Given the description of an element on the screen output the (x, y) to click on. 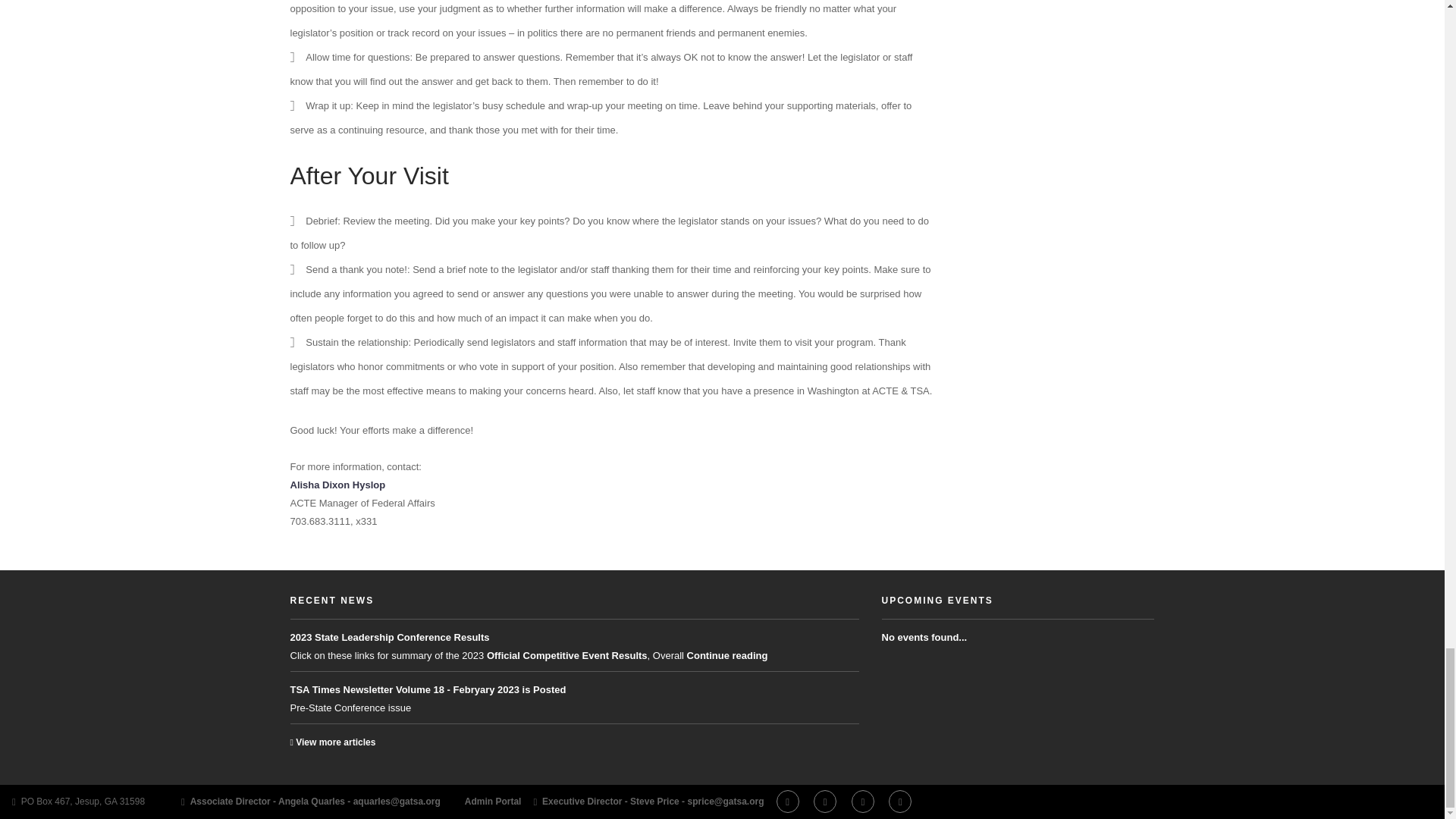
View event calendar! (936, 600)
View more news! (331, 600)
